Given the description of an element on the screen output the (x, y) to click on. 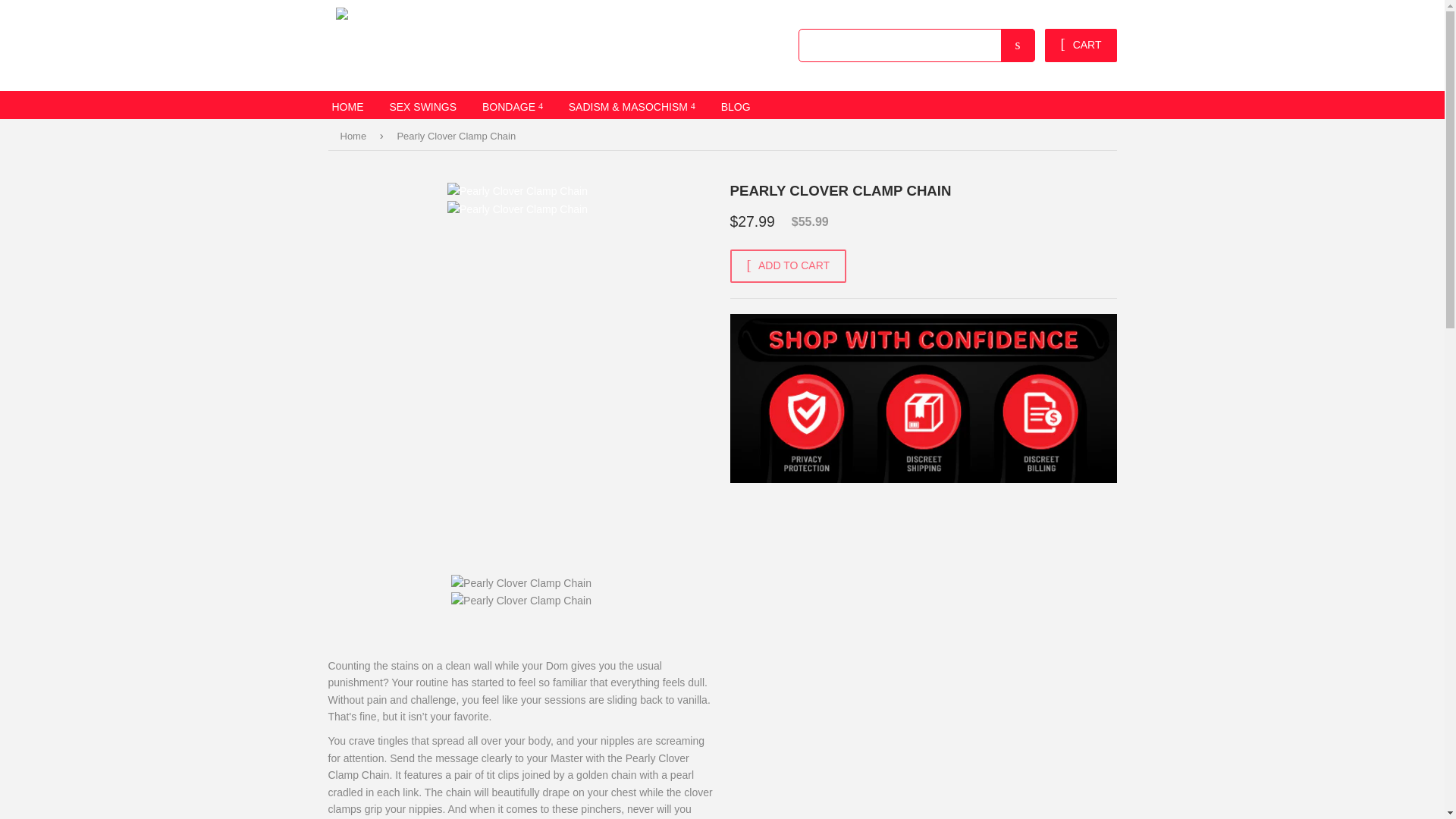
SEX SWINGS (422, 104)
BLOG (735, 104)
CART (1080, 45)
Search (1018, 45)
HOME (347, 104)
BONDAGE (512, 104)
Back to the frontpage (355, 135)
